Given the description of an element on the screen output the (x, y) to click on. 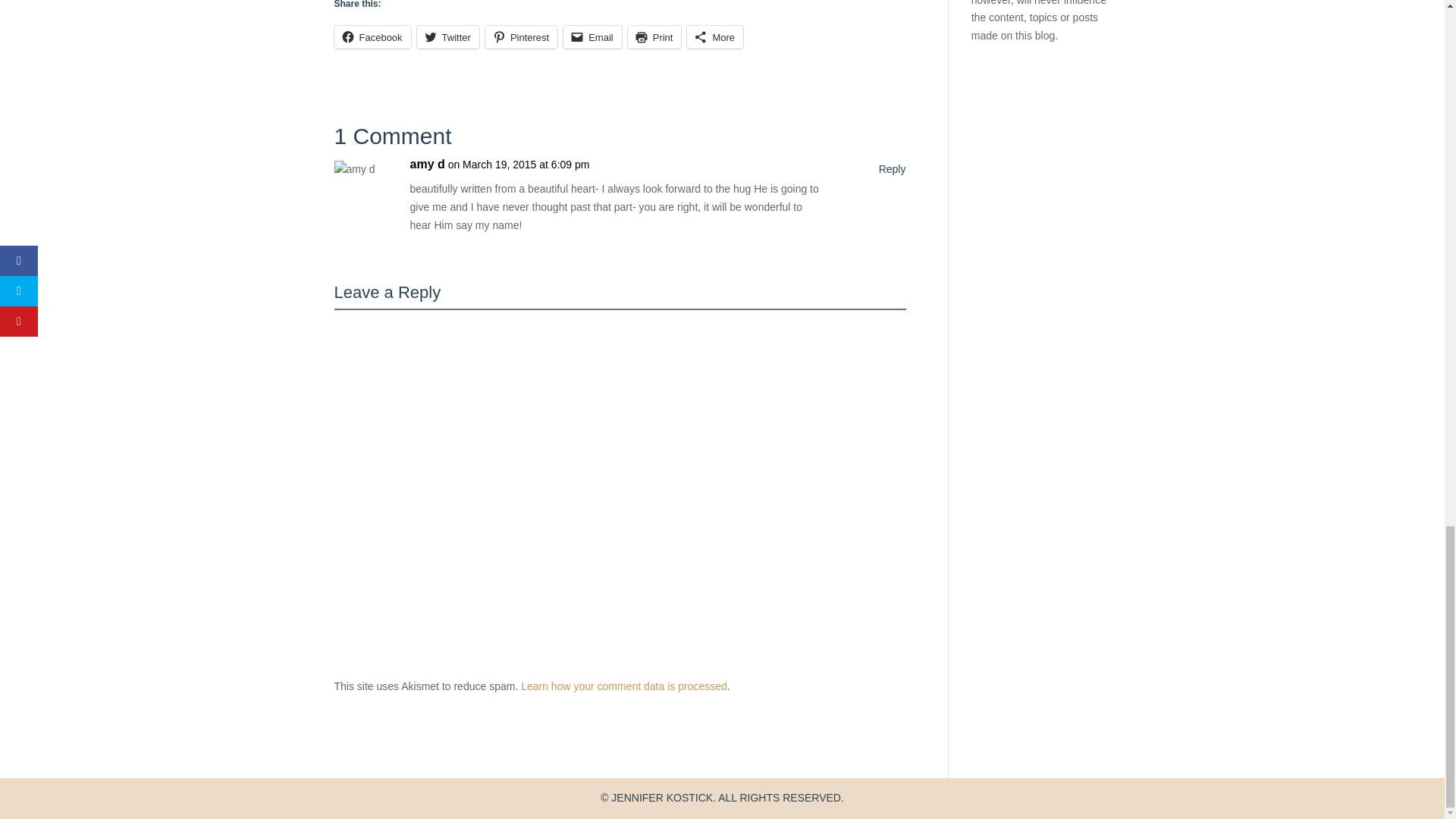
More (714, 36)
Reply (892, 169)
Click to print (654, 36)
Click to share on Pinterest (520, 36)
Pinterest (520, 36)
Twitter (447, 36)
Email (592, 36)
Learn how your comment data is processed (623, 686)
Click to share on Twitter (447, 36)
Facebook (371, 36)
